Given the description of an element on the screen output the (x, y) to click on. 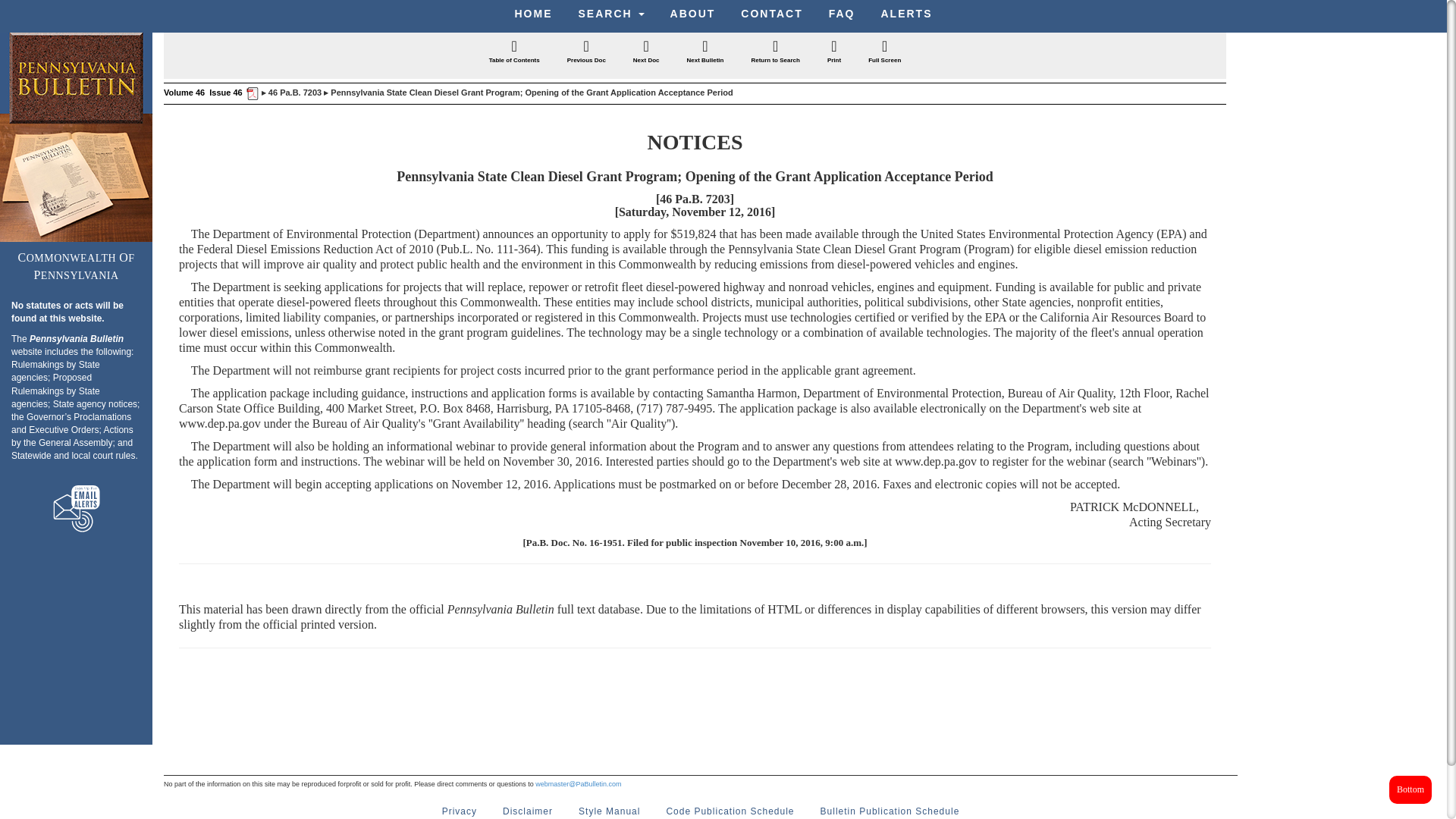
ABOUT (692, 13)
Next Bulletin (705, 52)
Go to bottom (1410, 789)
Next Doc (646, 52)
Resize Screen (884, 52)
Volume 46  Issue 46 (203, 92)
HOME (533, 13)
Code Publication Schedule (729, 808)
Return to Search (774, 52)
Return to Search (774, 52)
Next Bulletin (705, 52)
View PDF for this issue (251, 92)
Next Doc (646, 52)
ALERTS (906, 13)
Disclaimer (528, 808)
